Given the description of an element on the screen output the (x, y) to click on. 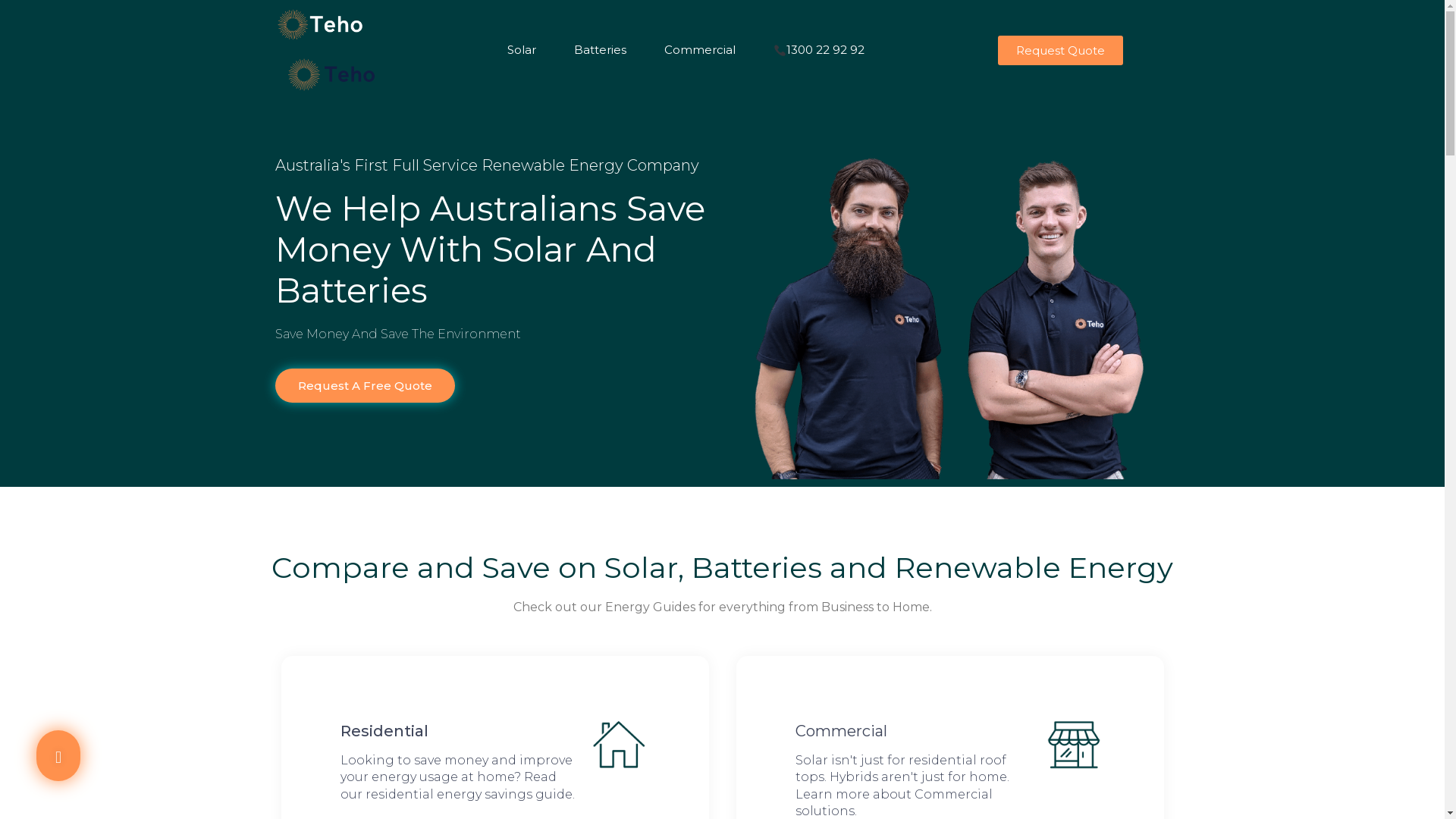
1300 22 92 92 Element type: text (819, 65)
Request A Free Quote Element type: text (364, 416)
Request Quote Element type: text (1060, 65)
Solar Element type: text (528, 34)
Commercial Element type: text (706, 34)
Batteries Element type: text (606, 34)
